Given the description of an element on the screen output the (x, y) to click on. 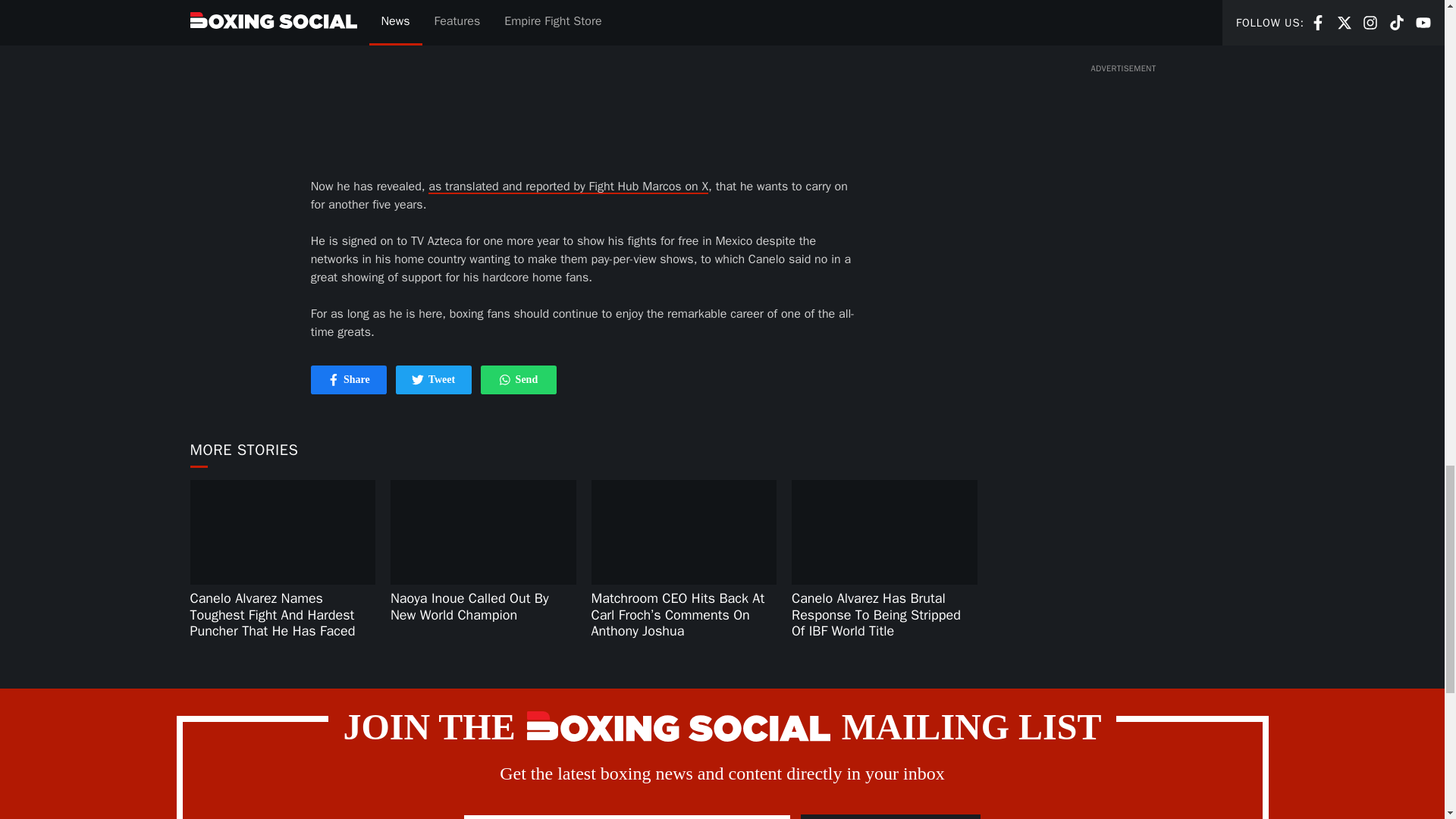
as translated and reported by Fight Hub Marcos on X (349, 379)
Facebook (518, 379)
WhatsApp (567, 186)
Subscribe (333, 379)
Subscribe (505, 379)
Naoya Inoue Called Out By New World Champion (889, 816)
